Given the description of an element on the screen output the (x, y) to click on. 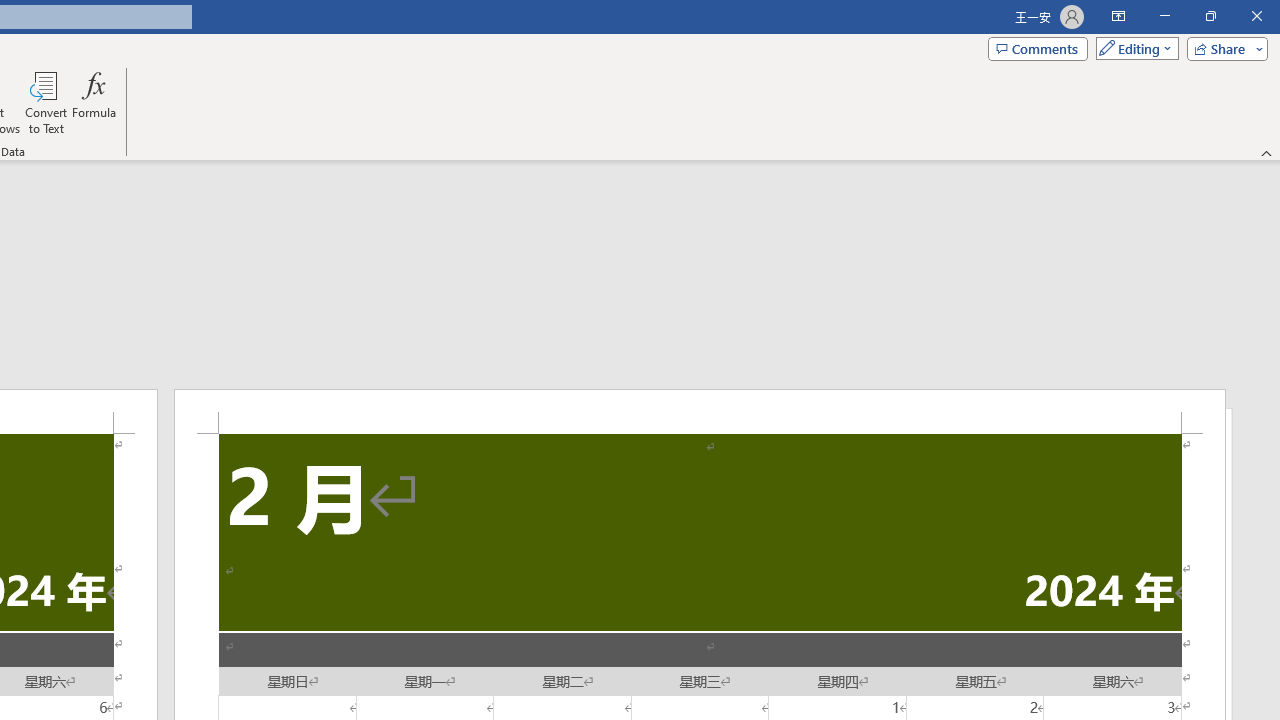
Header -Section 2- (700, 411)
Formula... (94, 102)
Convert to Text... (46, 102)
